Given the description of an element on the screen output the (x, y) to click on. 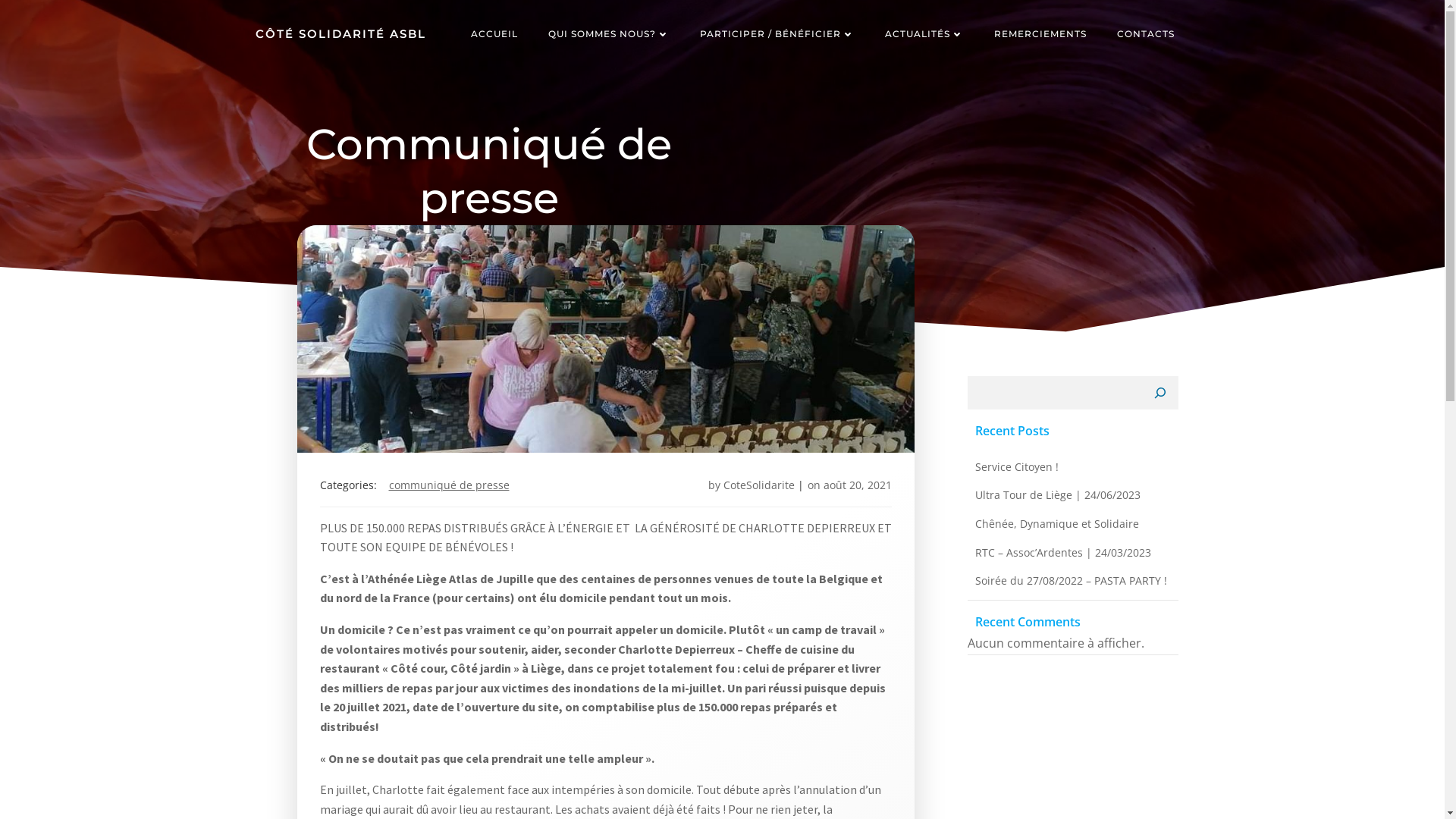
CoteSolidarite Element type: text (758, 484)
ACCUEIL Element type: text (493, 33)
QUI SOMMES NOUS? Element type: text (607, 33)
REMERCIEMENTS Element type: text (1039, 33)
CONTACTS Element type: text (1144, 33)
Service Citoyen ! Element type: text (1016, 466)
